Given the description of an element on the screen output the (x, y) to click on. 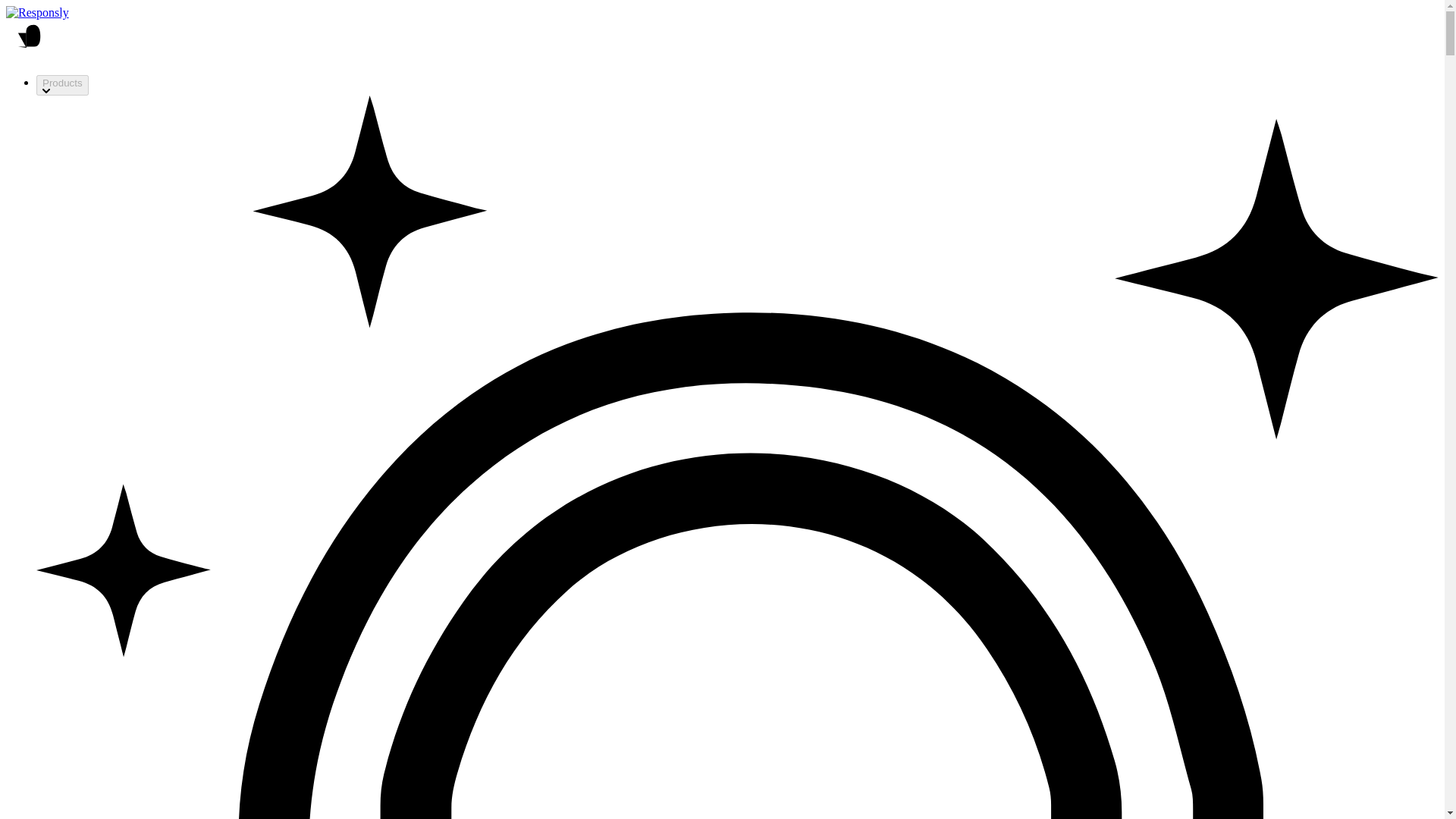
Products (62, 85)
